Given the description of an element on the screen output the (x, y) to click on. 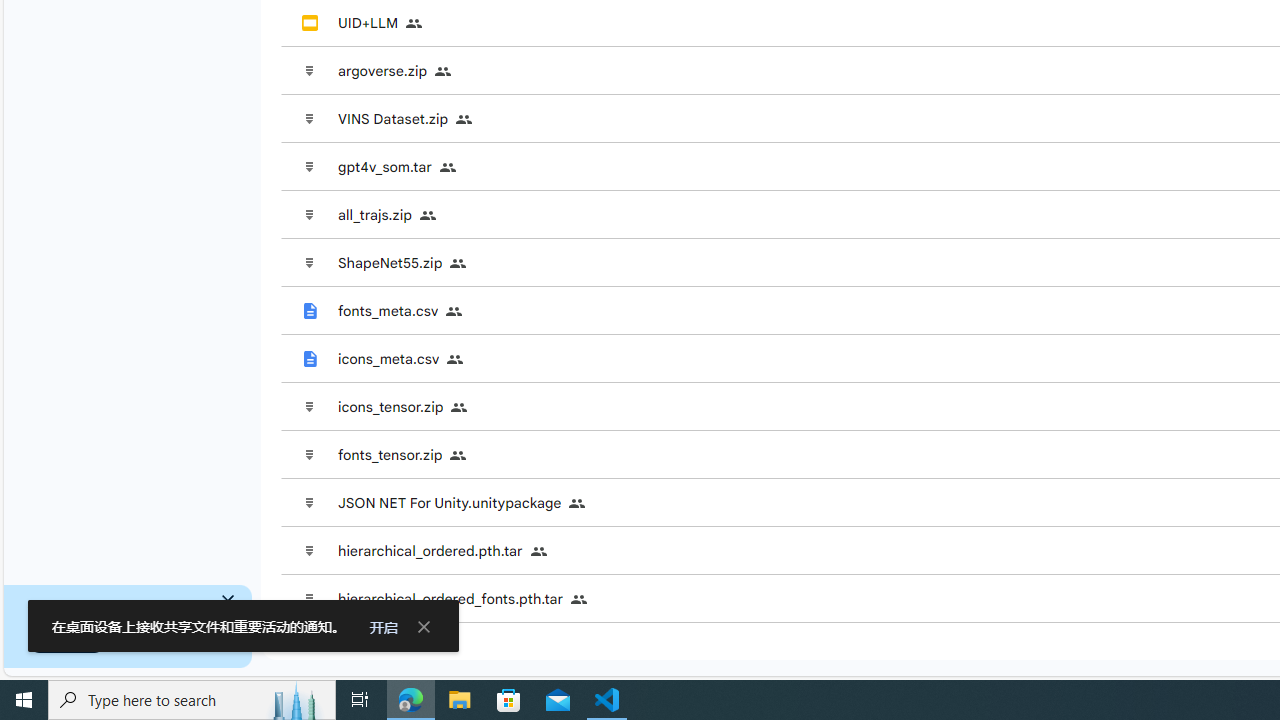
Class: HfXy2c (227, 600)
